Given the description of an element on the screen output the (x, y) to click on. 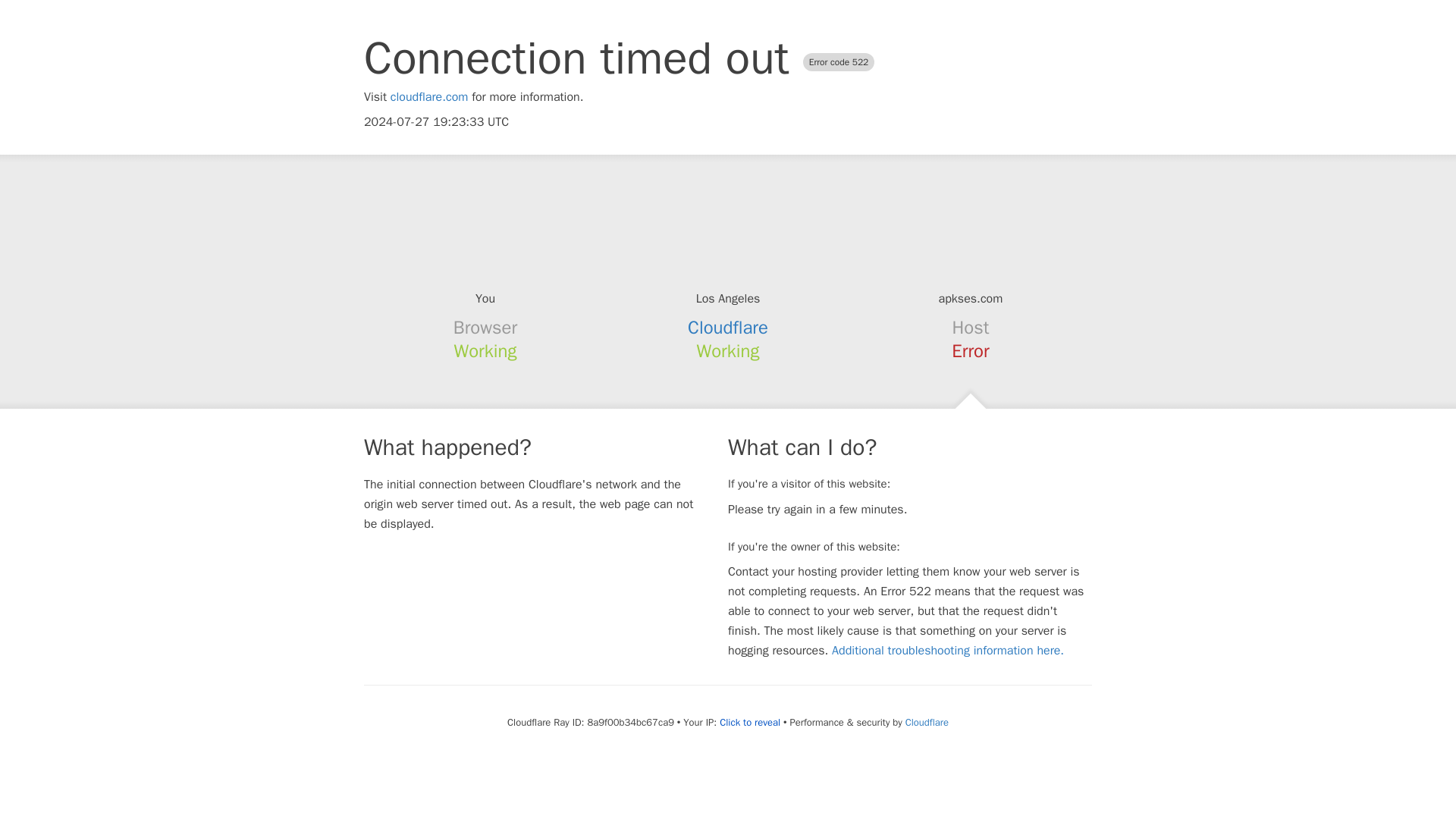
Cloudflare (727, 327)
Cloudflare (927, 721)
cloudflare.com (429, 96)
Click to reveal (749, 722)
Additional troubleshooting information here. (947, 650)
